Given the description of an element on the screen output the (x, y) to click on. 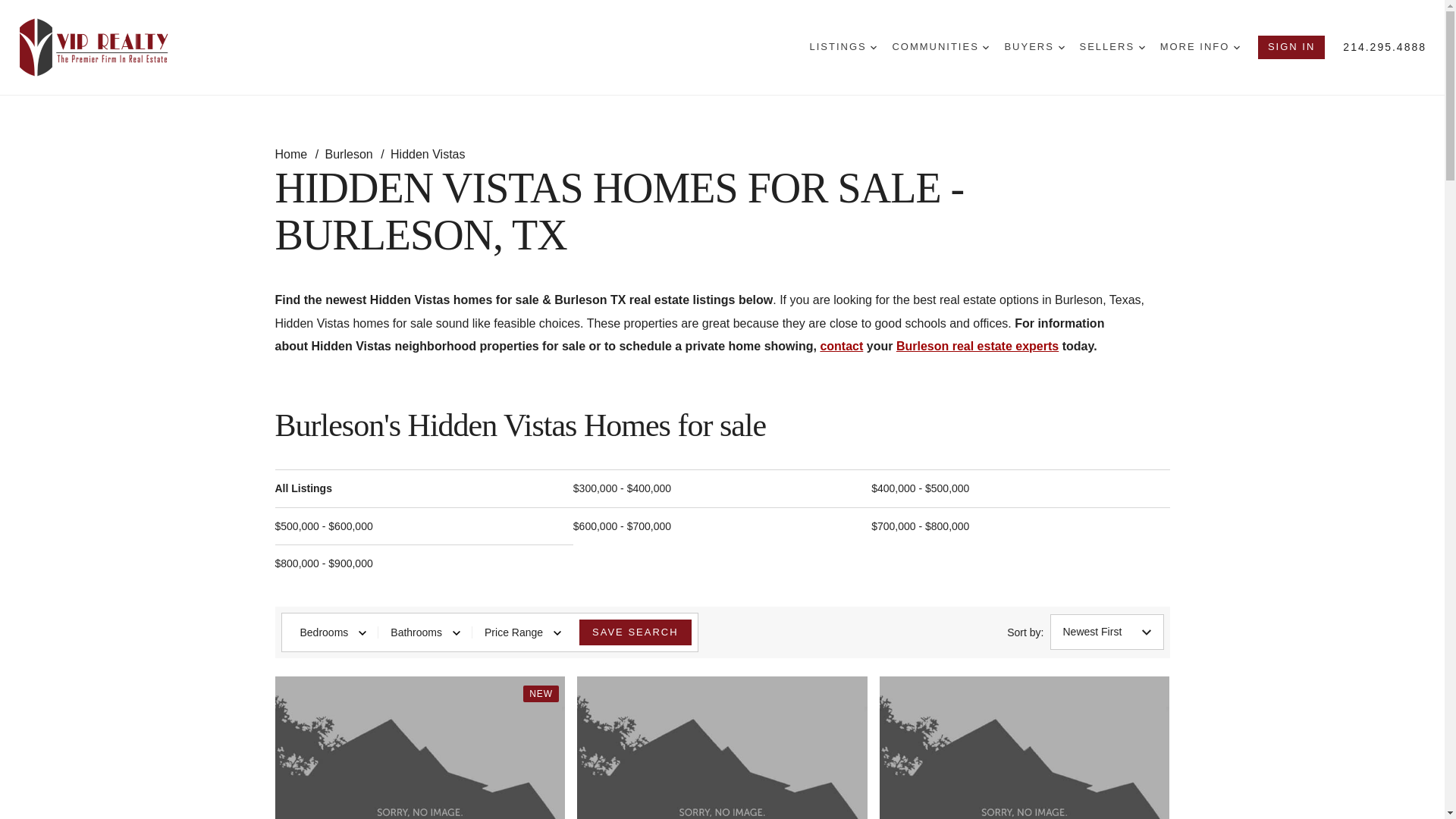
DROPDOWN ARROW (985, 47)
DROPDOWN ARROW (1061, 47)
DROPDOWN ARROW (1141, 47)
MORE INFO DROPDOWN ARROW (1200, 47)
LISTINGS DROPDOWN ARROW (843, 47)
COMMUNITIES DROPDOWN ARROW (939, 47)
DROPDOWN ARROW (1236, 47)
BUYERS DROPDOWN ARROW (1034, 47)
DROPDOWN ARROW (873, 47)
SELLERS DROPDOWN ARROW (1112, 47)
